Given the description of an element on the screen output the (x, y) to click on. 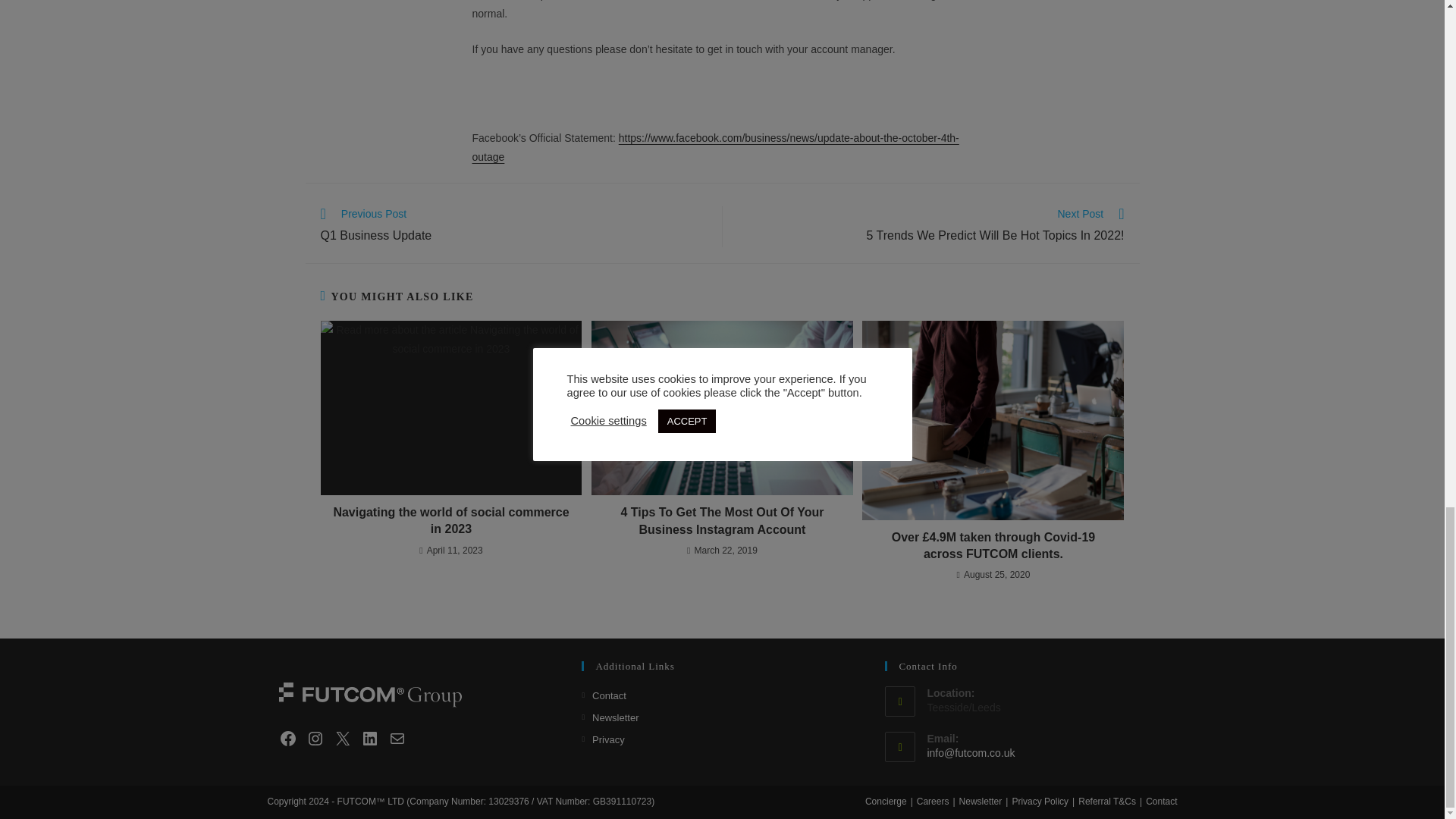
Navigating the world of social commerce in 2023 (450, 521)
LinkedIn (513, 226)
Facebook (369, 738)
Instagram (288, 738)
X (930, 226)
